Given the description of an element on the screen output the (x, y) to click on. 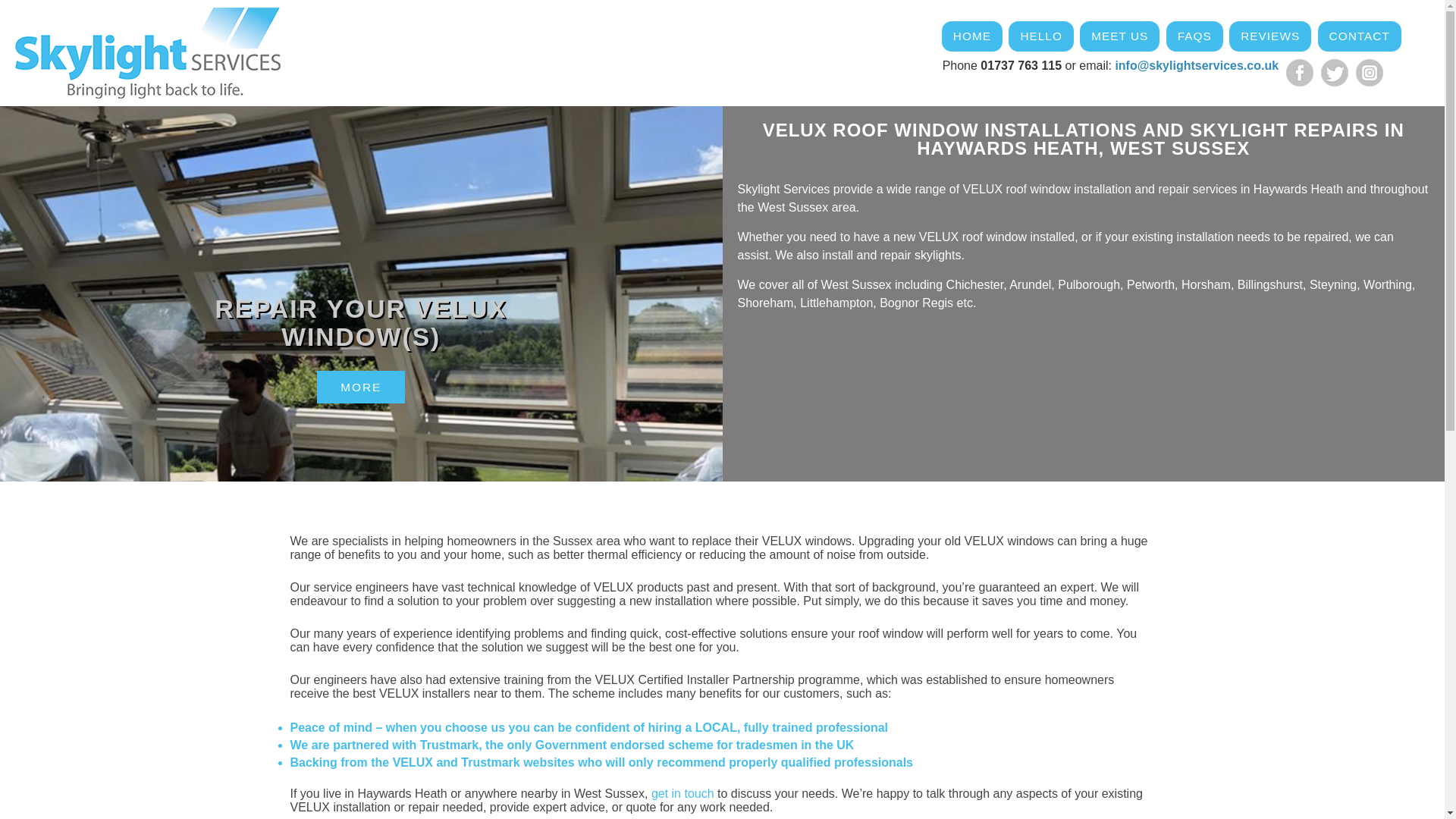
MORE (360, 387)
get in touch (682, 793)
HELLO (1041, 36)
CONTACT (1358, 36)
REVIEWS (1269, 36)
MEET US (1119, 36)
HOME (972, 36)
FAQS (1194, 36)
01737 763 115 (1020, 65)
